Given the description of an element on the screen output the (x, y) to click on. 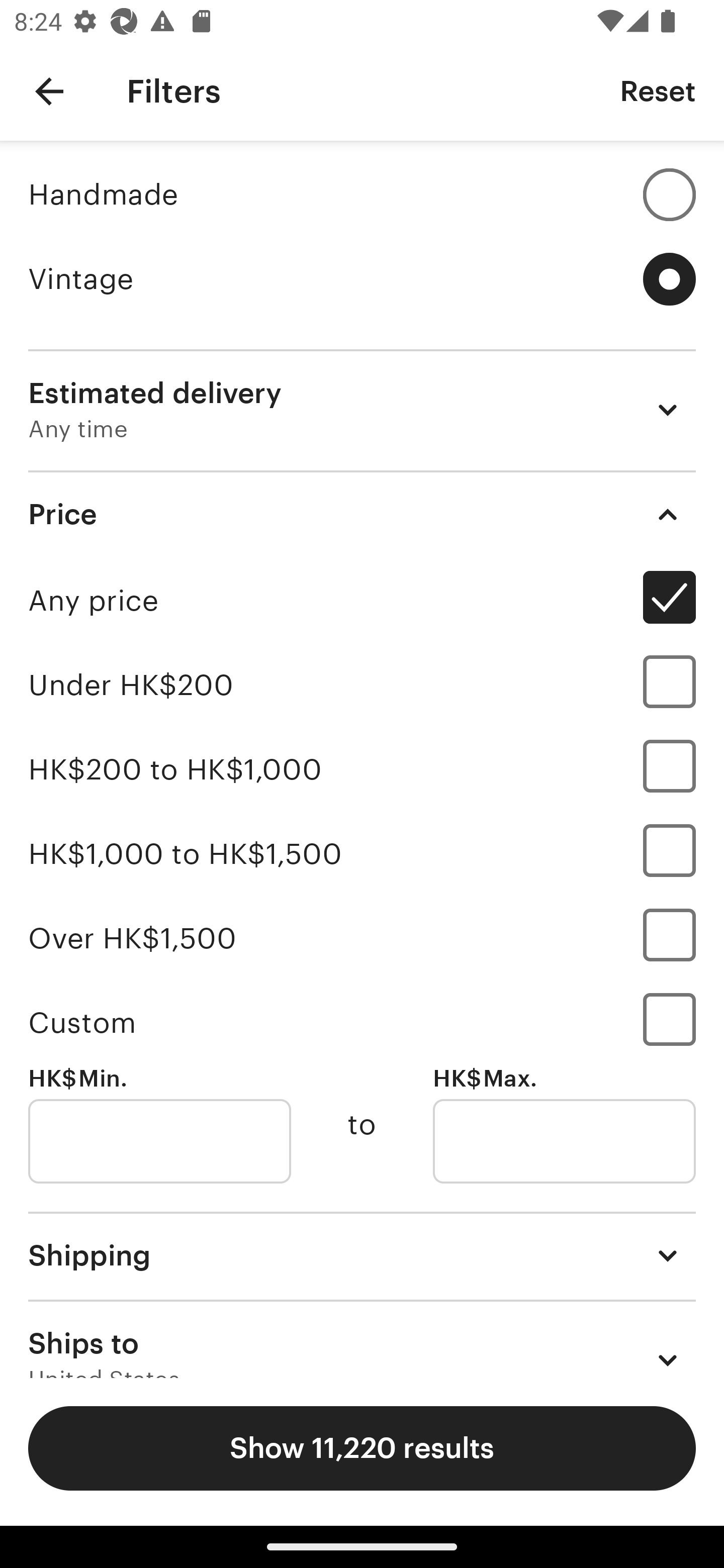
Navigate up (49, 91)
Reset (657, 90)
Handmade (362, 194)
Vintage (362, 278)
Estimated delivery Any time (362, 409)
Price (362, 514)
Any price (362, 600)
Under HK$200 (362, 684)
HK$200 to HK$1,000 (362, 769)
HK$1,000 to HK$1,500 (362, 853)
Over HK$1,500 (362, 937)
Custom (362, 1022)
Shipping (362, 1255)
Ships to United States (362, 1338)
Show 11,220 results Show 136,682 results (361, 1448)
